Given the description of an element on the screen output the (x, y) to click on. 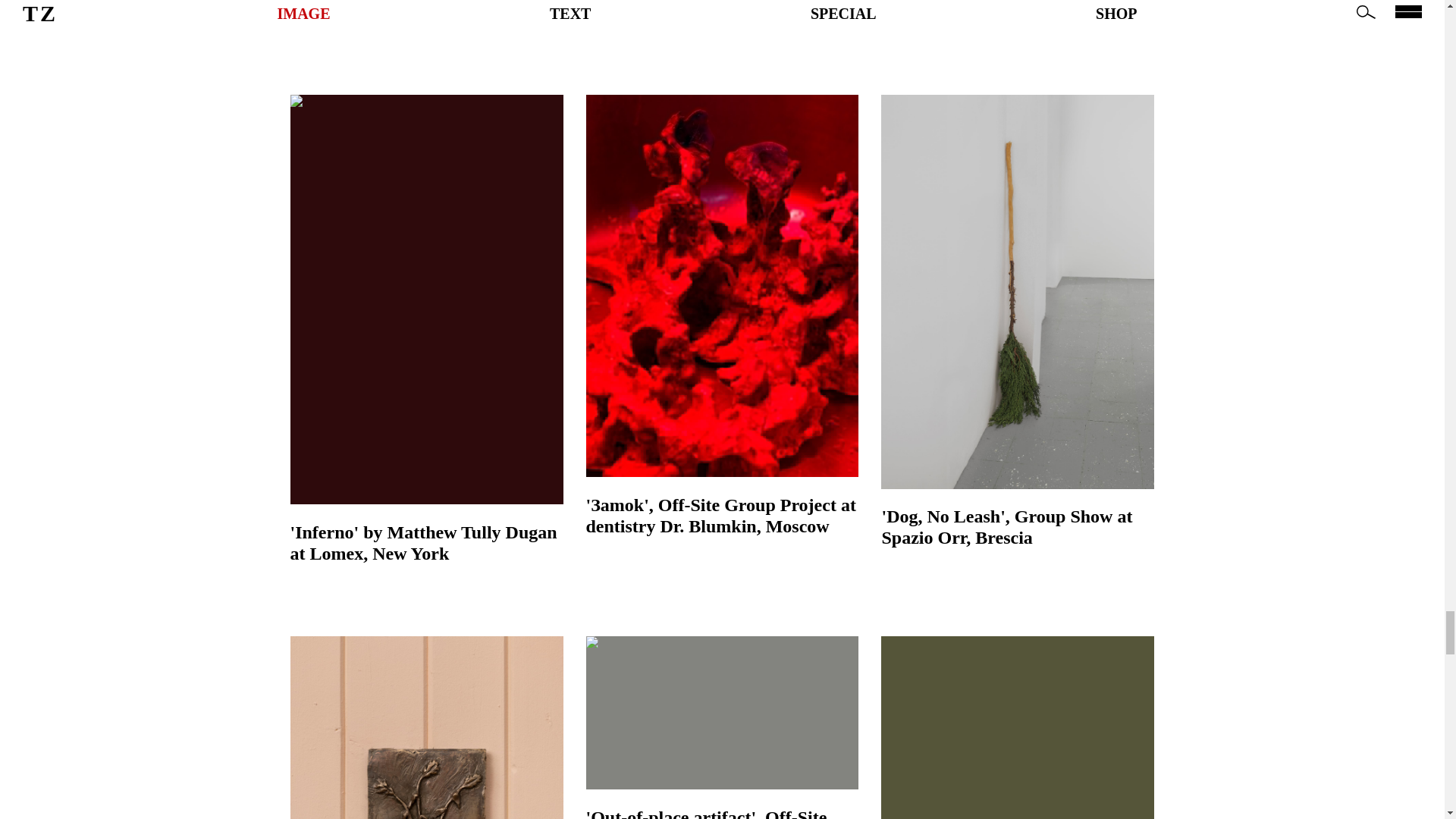
'ABSINTHE', Group Show Curated by PLAGUE at Smena, Kazan (426, 11)
'Gardening' by Daniel Drabek at Toni Areal, Zurich (1017, 727)
'ABSINTHE', Group Show Curated by PLAGUE at Smena, Kazan (426, 11)
'Inferno' by Matthew Tully Dugan at Lomex, New York (426, 542)
'Dog, No Leash', Group Show at Spazio Orr, Brescia (1017, 526)
